Given the description of an element on the screen output the (x, y) to click on. 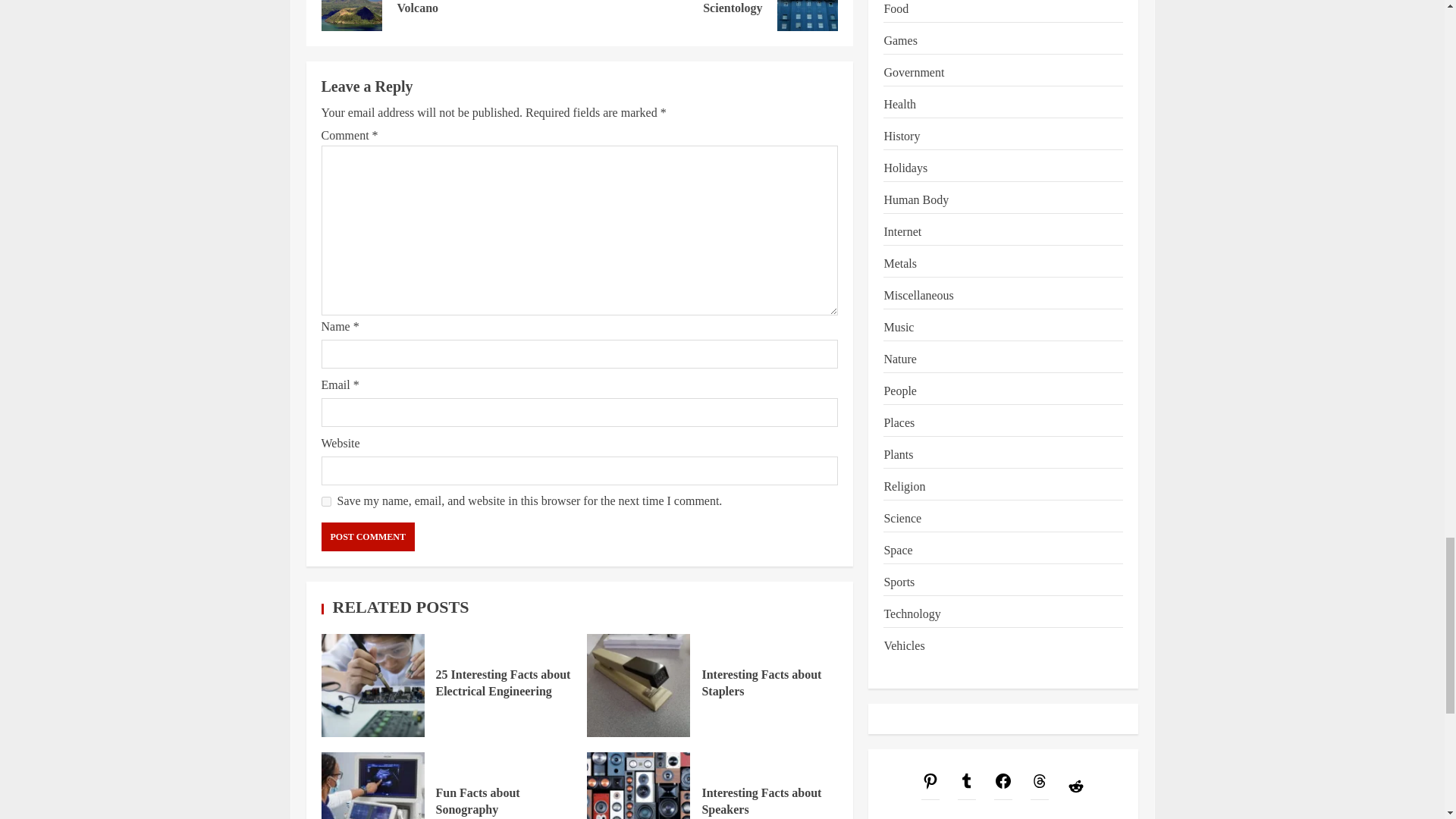
Post Comment (450, 15)
Interesting Facts about Staplers (367, 536)
Fun Facts about Sonography (638, 685)
Post Comment (373, 785)
25 Interesting Facts about Electrical Engineering (367, 536)
Interesting Facts about Speakers (502, 682)
Fun Facts about Sonography (708, 15)
25 Interesting Facts about Electrical Engineering (638, 785)
Interesting Facts about Speakers (477, 800)
Interesting Facts about Staplers (373, 685)
yes (761, 800)
